Given the description of an element on the screen output the (x, y) to click on. 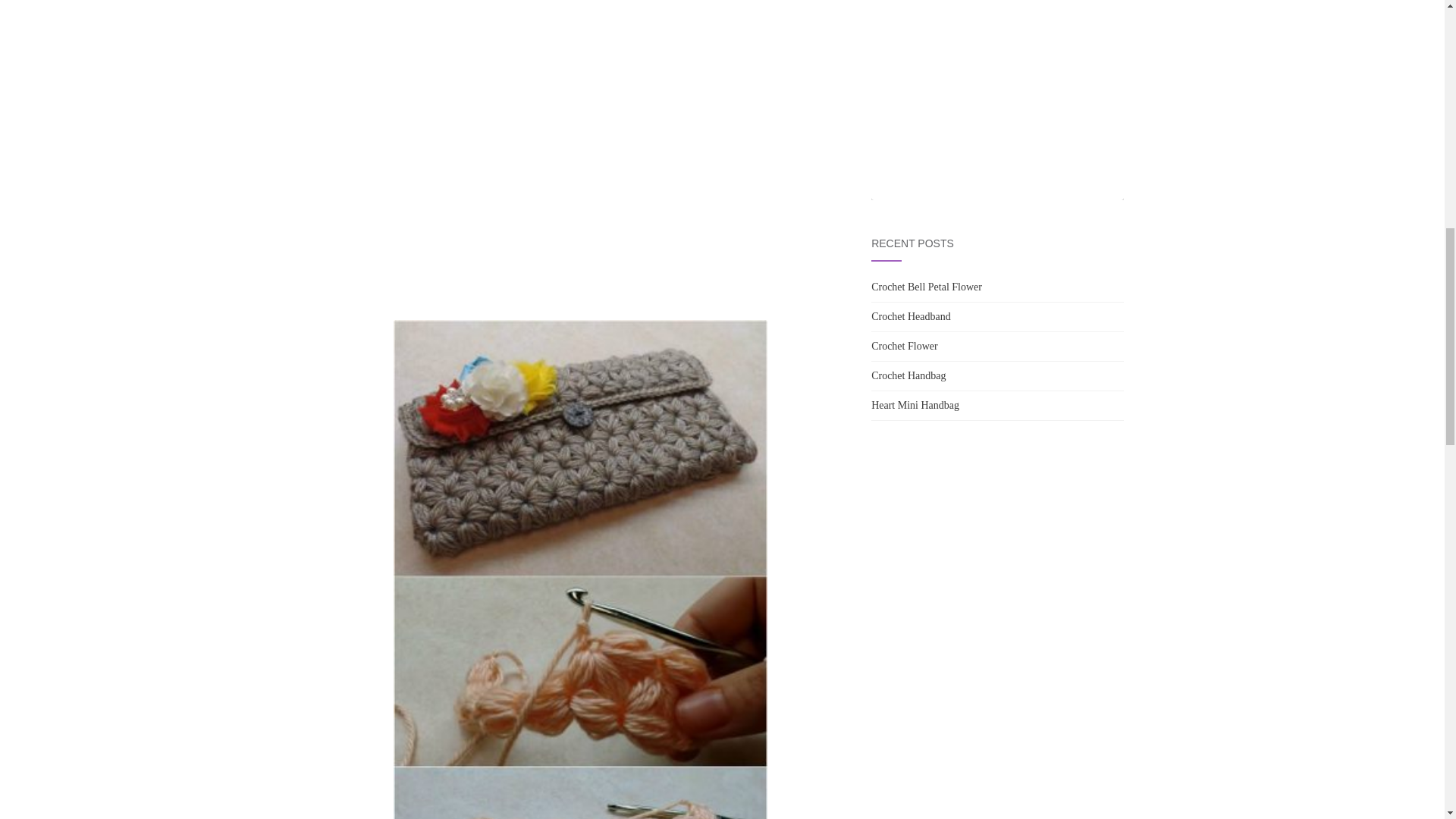
Advertisement (580, 205)
